Given the description of an element on the screen output the (x, y) to click on. 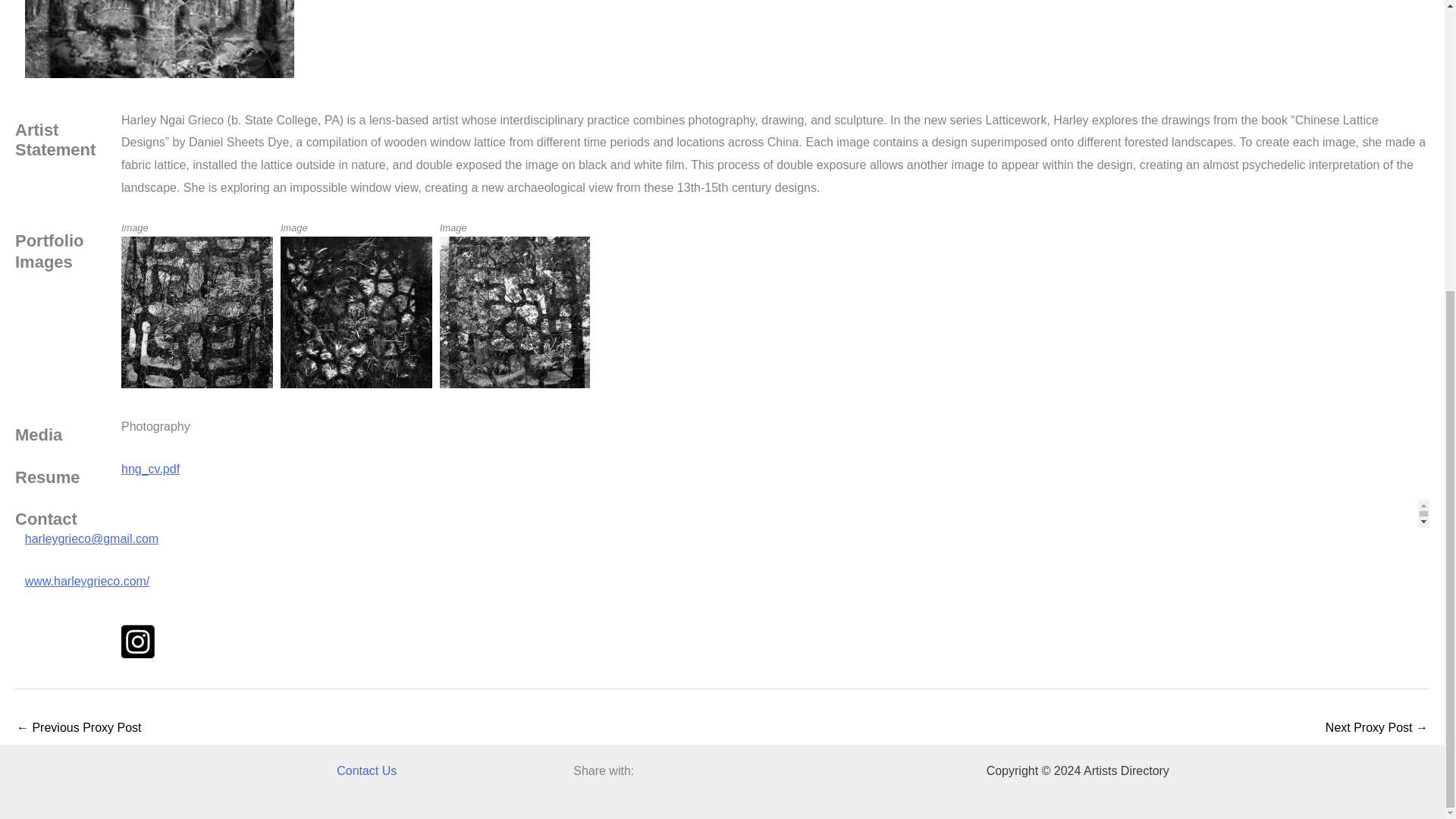
Edit Entry (618, 241)
Edit Entry (301, 241)
Delete Entry (618, 226)
Contact Us (366, 771)
Delete Entry (460, 226)
Edit Entry (460, 241)
Delete Entry (301, 226)
